Given the description of an element on the screen output the (x, y) to click on. 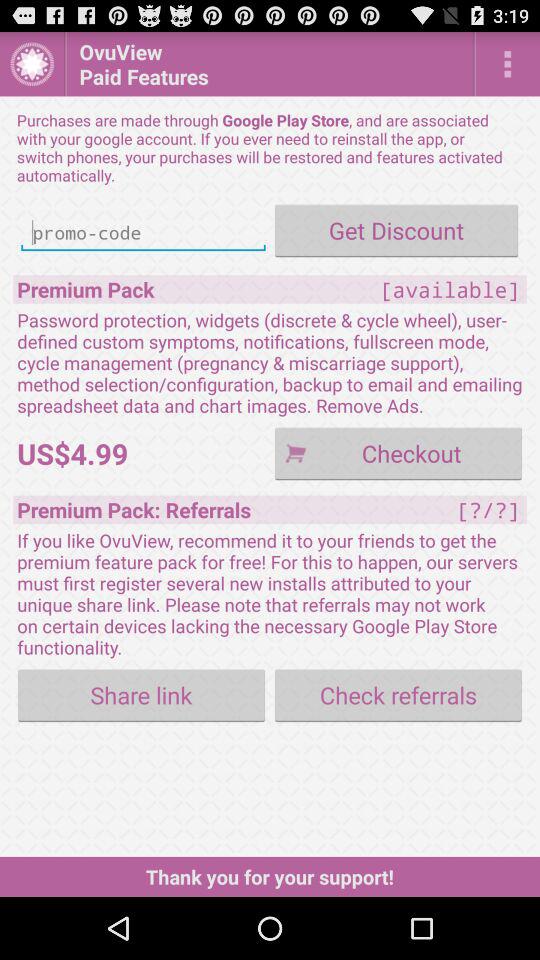
press the icon below the if you like (398, 694)
